Given the description of an element on the screen output the (x, y) to click on. 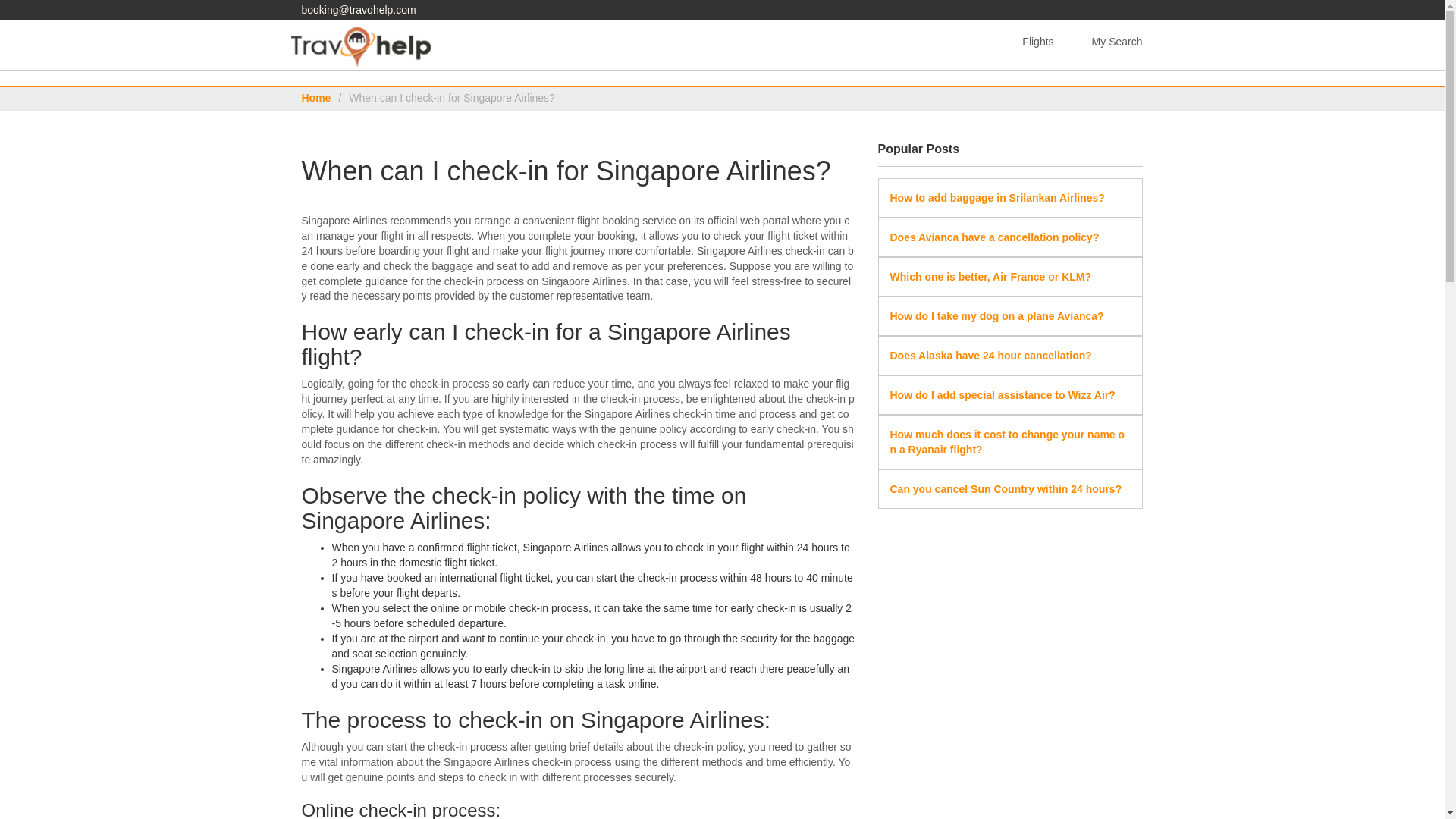
Does Avianca have a cancellation policy? (994, 236)
How do I take my dog on a plane Avianca? (996, 316)
How do I add special assistance to Wizz Air? (1002, 395)
My Search (1117, 42)
Can you cancel Sun Country within 24 hours? (1005, 489)
Does Alaska have 24 hour cancellation? (990, 355)
Home (316, 97)
Which one is better, Air France or KLM? (990, 276)
How to add baggage in Srilankan Airlines? (997, 197)
Flights (1037, 42)
